Given the description of an element on the screen output the (x, y) to click on. 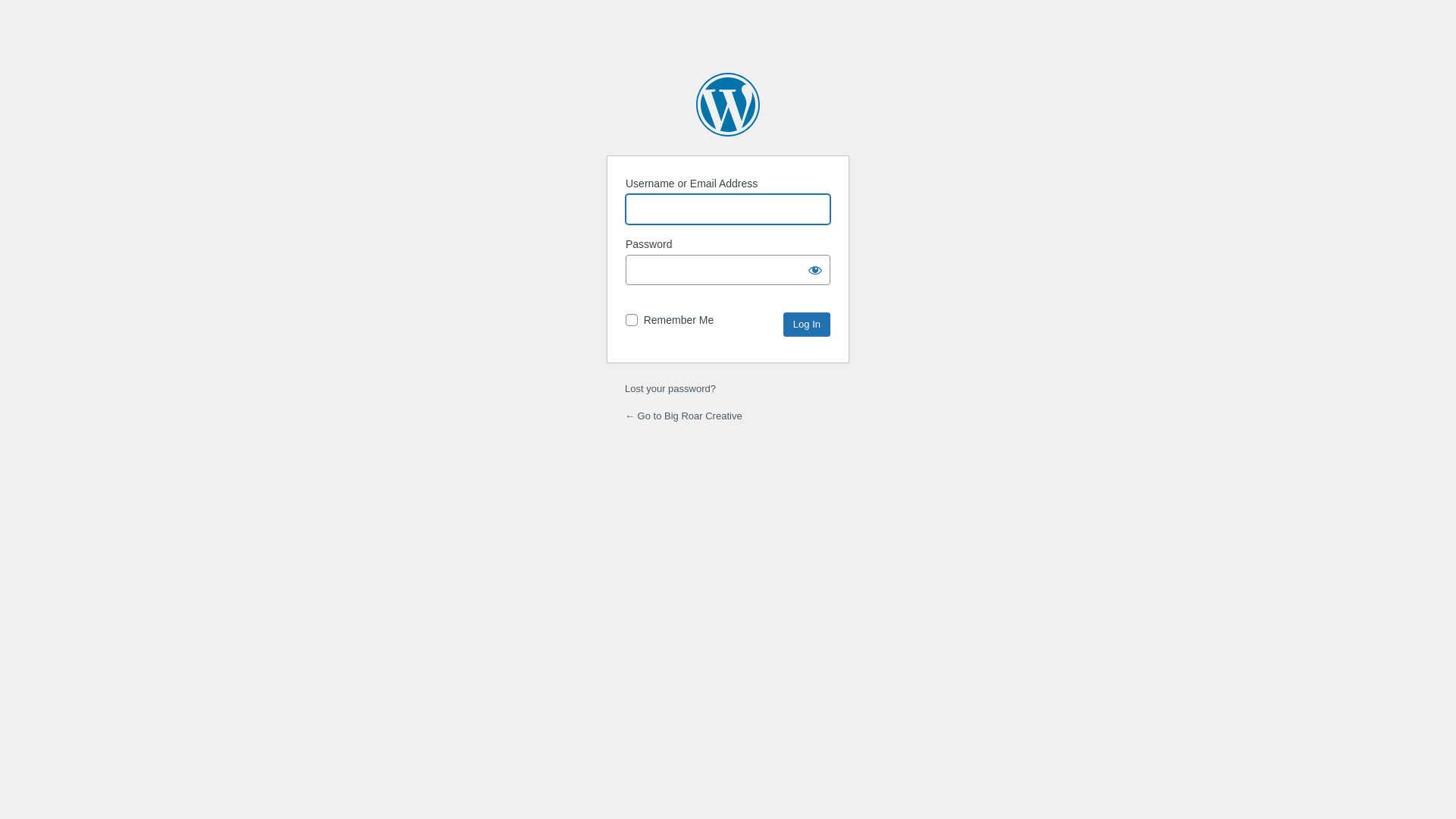
Log In Element type: text (806, 324)
Lost your password? Element type: text (669, 388)
Powered by WordPress Element type: text (727, 104)
